Given the description of an element on the screen output the (x, y) to click on. 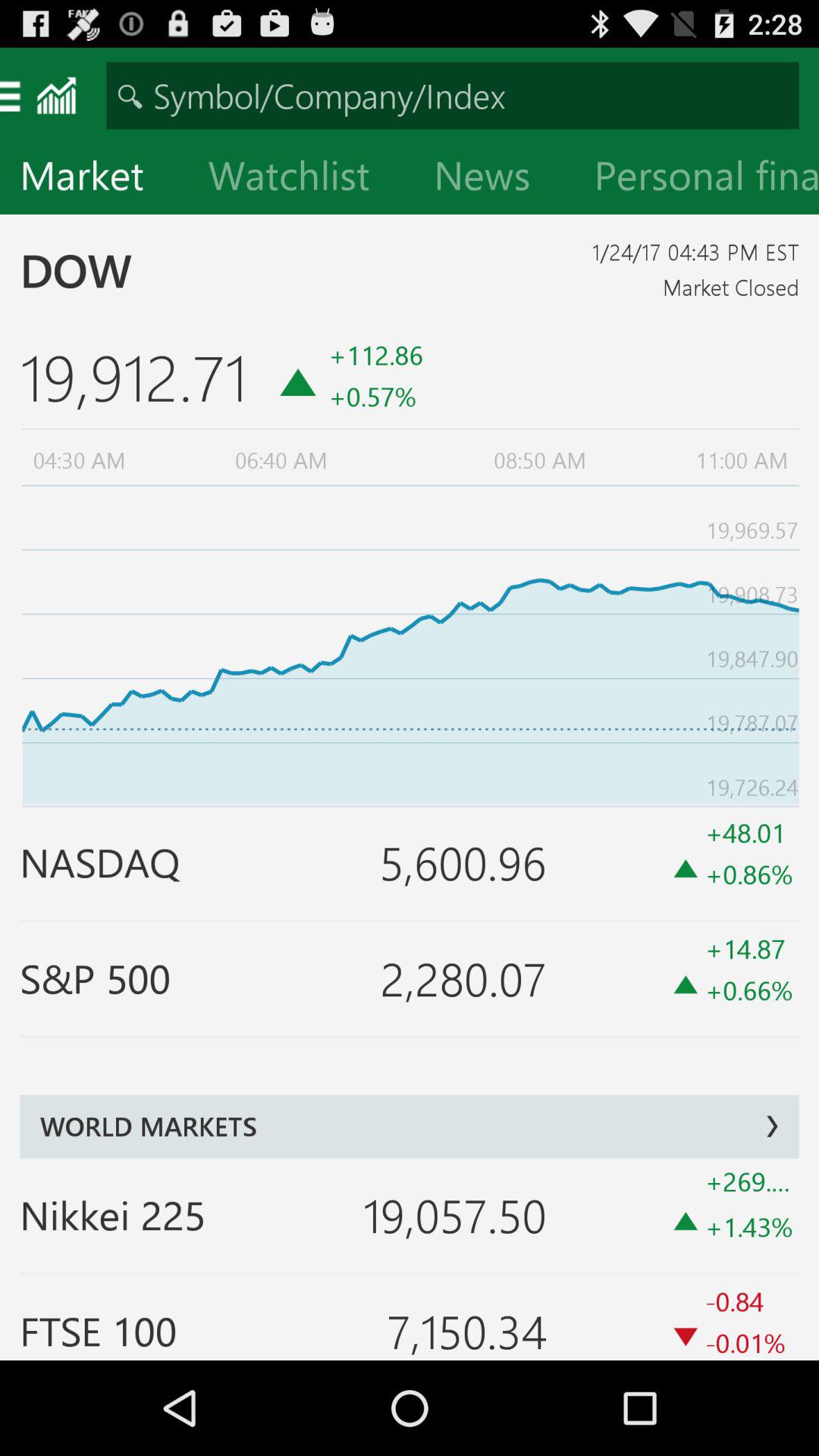
press item below the 19,912.71 icon (409, 643)
